Given the description of an element on the screen output the (x, y) to click on. 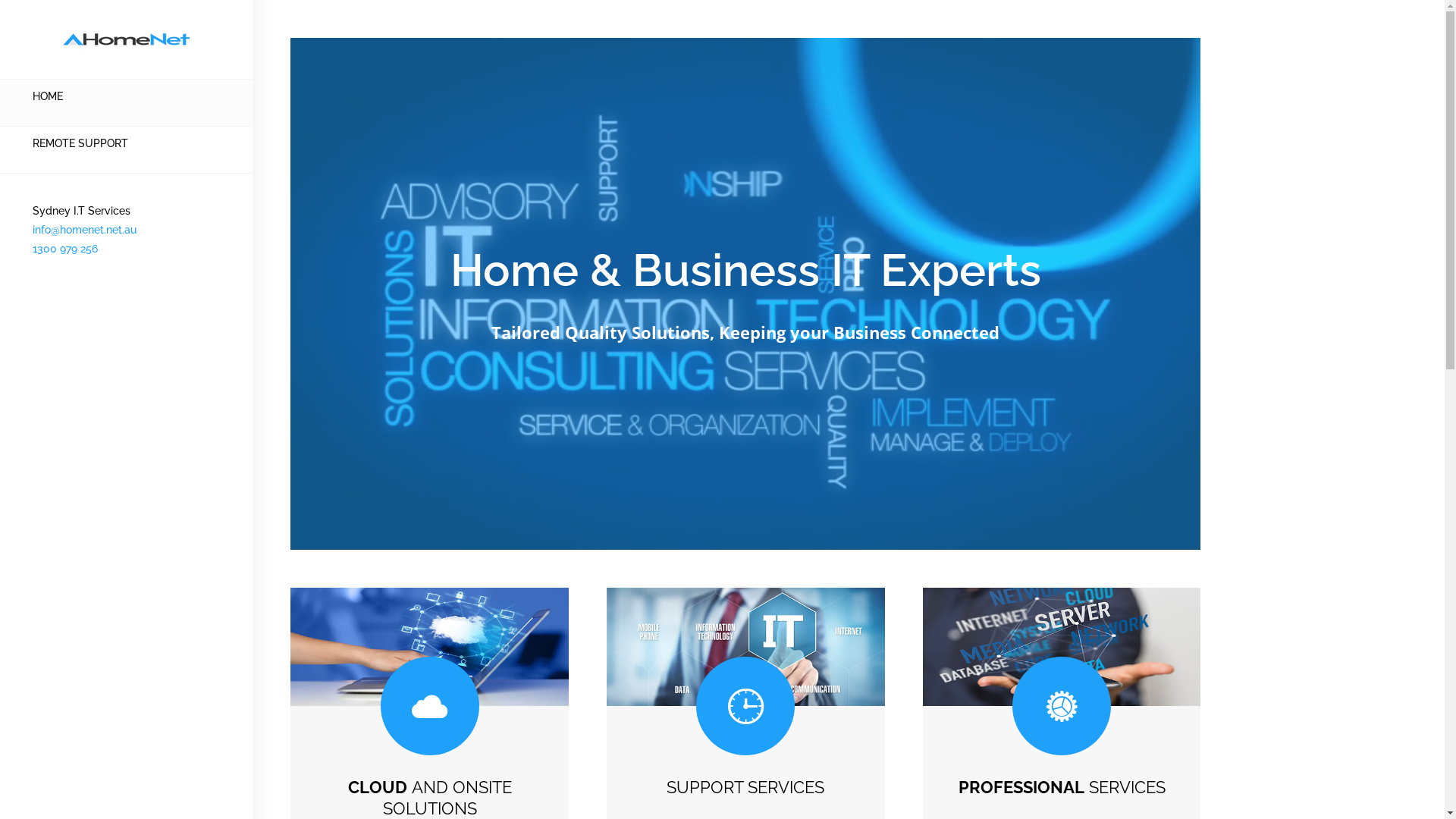
HOME Element type: text (125, 96)
HOME Element type: text (47, 96)
REMOTE SUPPORT Element type: text (125, 143)
info@homenet.net.au
1300 979 256 Element type: text (84, 247)
REMOTE SUPPORT Element type: text (80, 143)
